Given the description of an element on the screen output the (x, y) to click on. 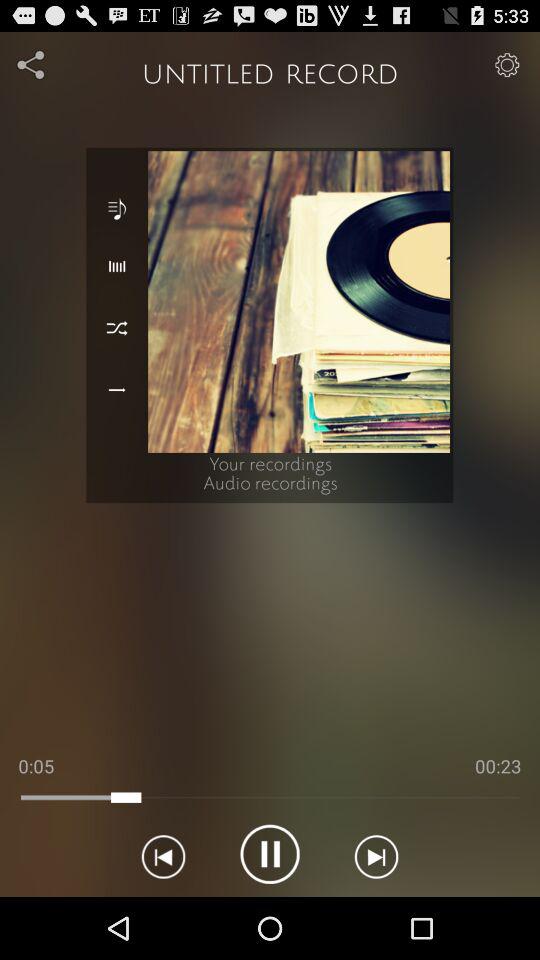
next track (376, 853)
